Given the description of an element on the screen output the (x, y) to click on. 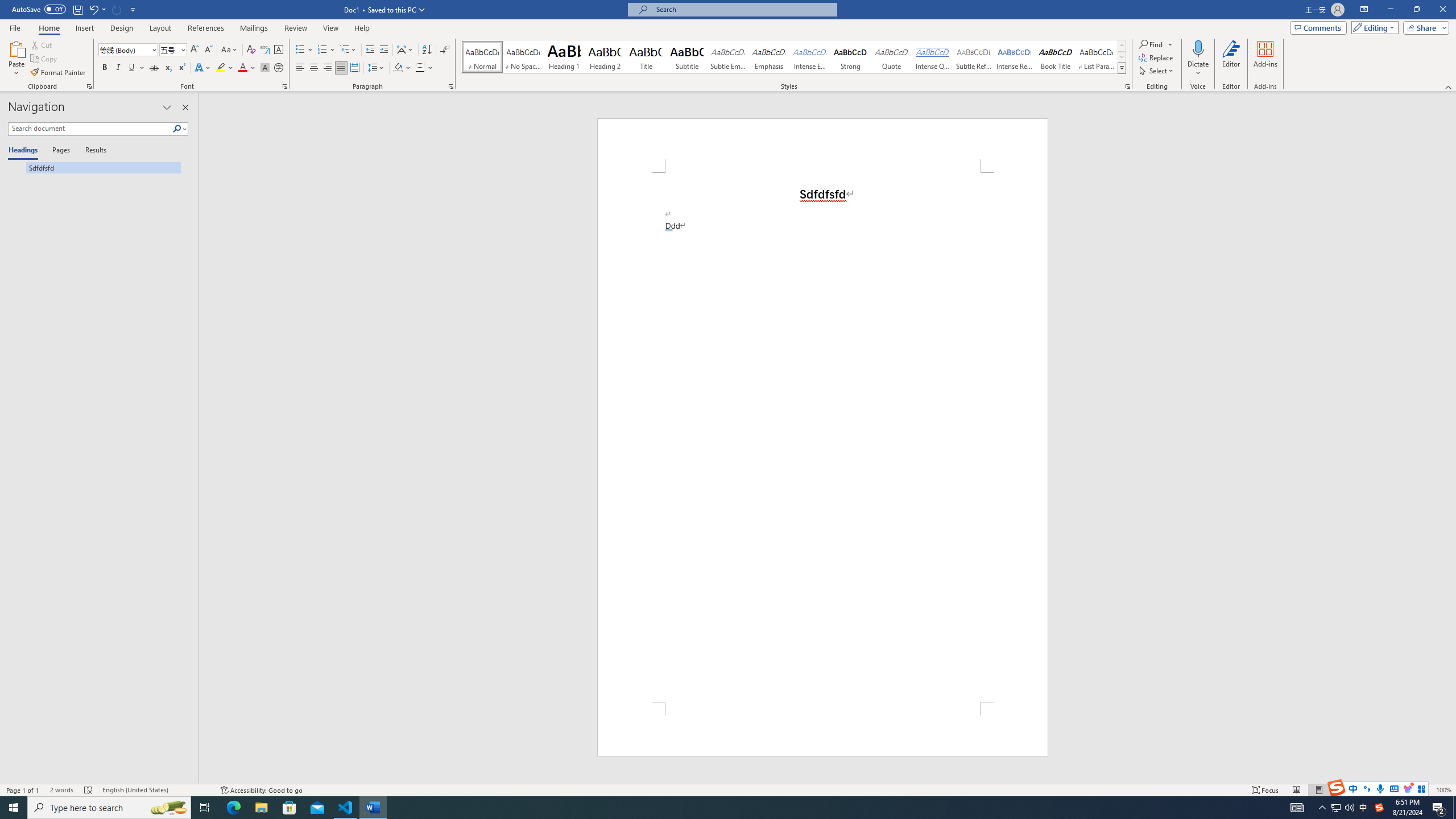
Spelling and Grammar Check Errors (88, 790)
Character Shading (264, 67)
AutoSave (38, 9)
Page 1 content (822, 436)
Quick Access Toolbar (74, 9)
Text Highlight Color Yellow (220, 67)
Task Pane Options (167, 107)
Class: NetUIScrollBar (1450, 437)
Font Size (172, 49)
Subtle Reference (973, 56)
Increase Indent (383, 49)
Font Color (246, 67)
Review (295, 28)
Text Effects and Typography (202, 67)
Quote (891, 56)
